Given the description of an element on the screen output the (x, y) to click on. 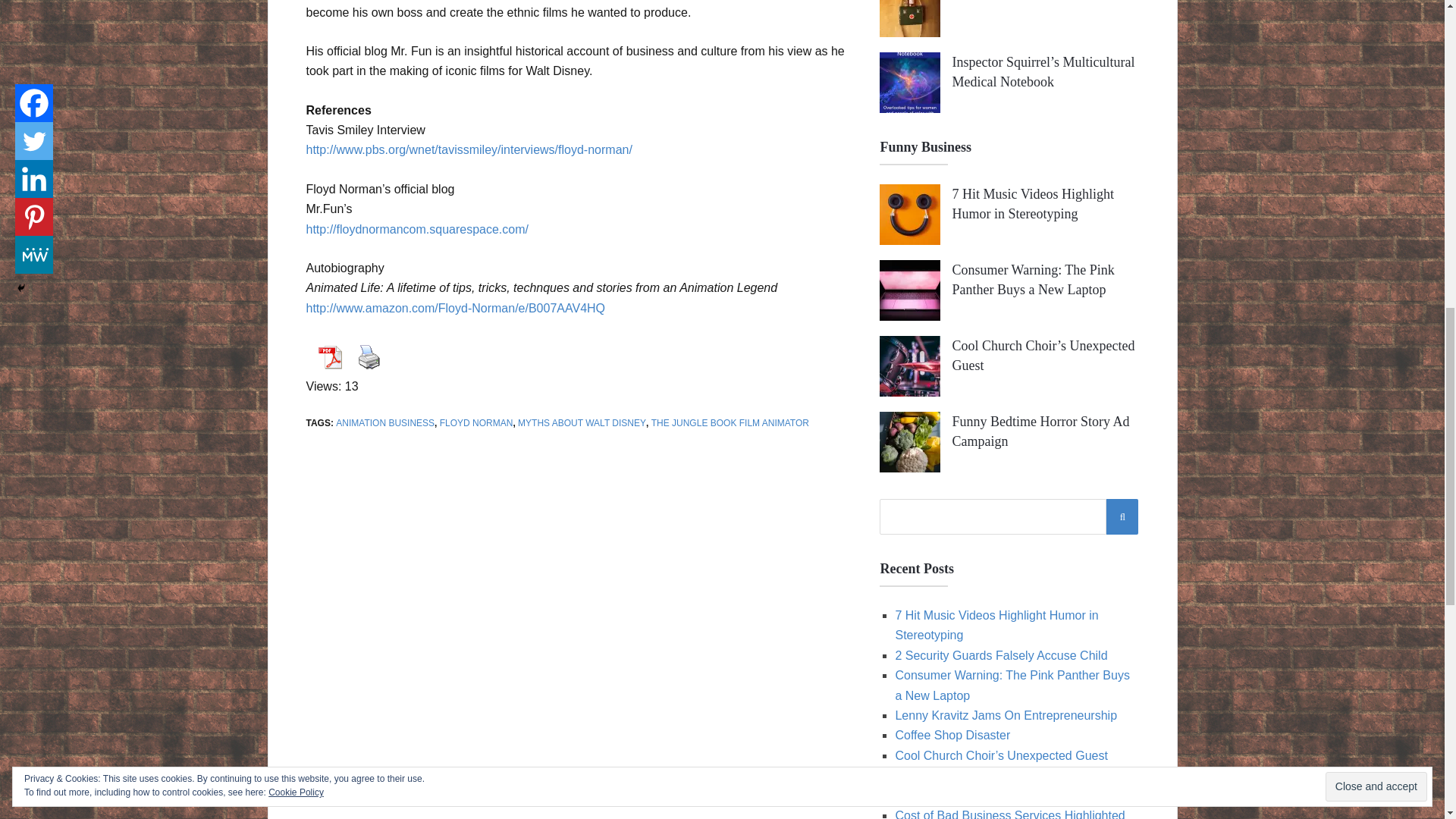
ANIMATION BUSINESS (384, 422)
Print Content (369, 357)
THE JUNGLE BOOK FILM ANIMATOR (729, 422)
FLOYD NORMAN (476, 422)
View PDF (330, 357)
MYTHS ABOUT WALT DISNEY (582, 422)
